Given the description of an element on the screen output the (x, y) to click on. 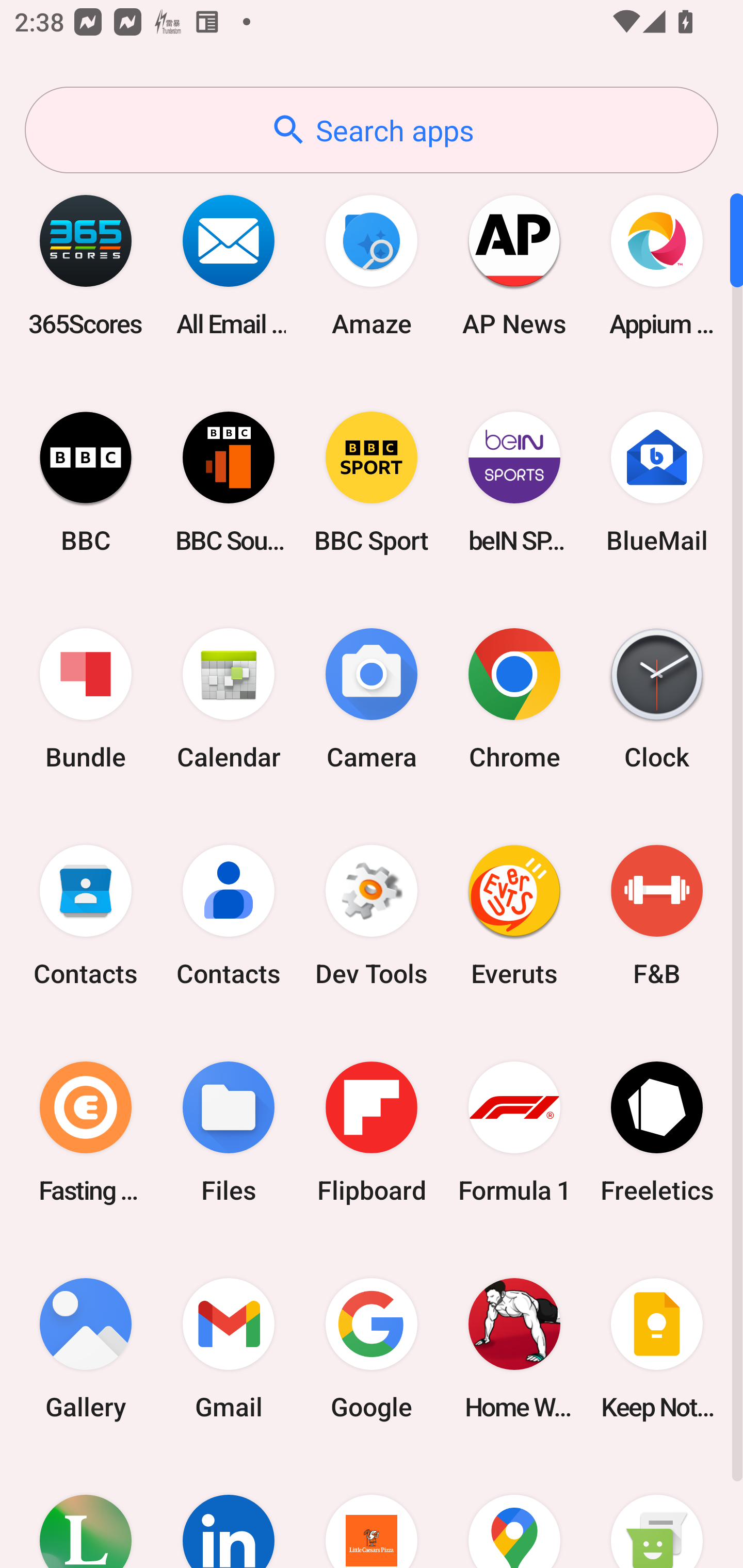
  Search apps (371, 130)
365Scores (85, 264)
All Email Connect (228, 264)
Amaze (371, 264)
AP News (514, 264)
Appium Settings (656, 264)
BBC (85, 482)
BBC Sounds (228, 482)
BBC Sport (371, 482)
beIN SPORTS (514, 482)
BlueMail (656, 482)
Bundle (85, 699)
Calendar (228, 699)
Camera (371, 699)
Chrome (514, 699)
Clock (656, 699)
Contacts (85, 915)
Contacts (228, 915)
Dev Tools (371, 915)
Everuts (514, 915)
F&B (656, 915)
Fasting Coach (85, 1131)
Files (228, 1131)
Flipboard (371, 1131)
Formula 1 (514, 1131)
Freeletics (656, 1131)
Gallery (85, 1348)
Gmail (228, 1348)
Google (371, 1348)
Home Workout (514, 1348)
Keep Notes (656, 1348)
